Given the description of an element on the screen output the (x, y) to click on. 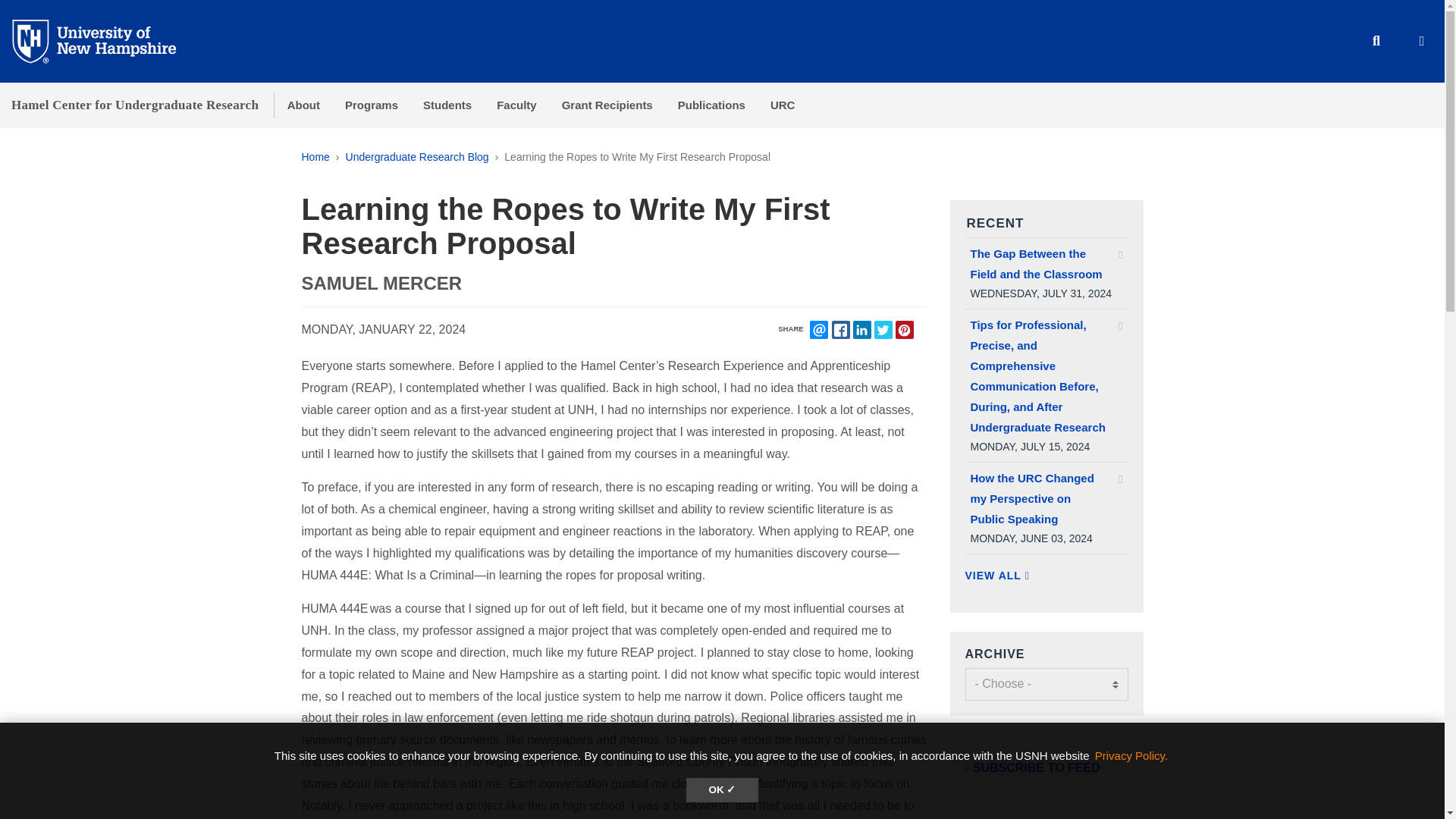
About (303, 104)
Faculty (517, 104)
University of New Hampshire (105, 40)
Grant Recipients (606, 104)
Privacy Policy. (1131, 755)
Hamel Center for Undergraduate Research (135, 104)
Students (447, 104)
Programs (370, 104)
